Given the description of an element on the screen output the (x, y) to click on. 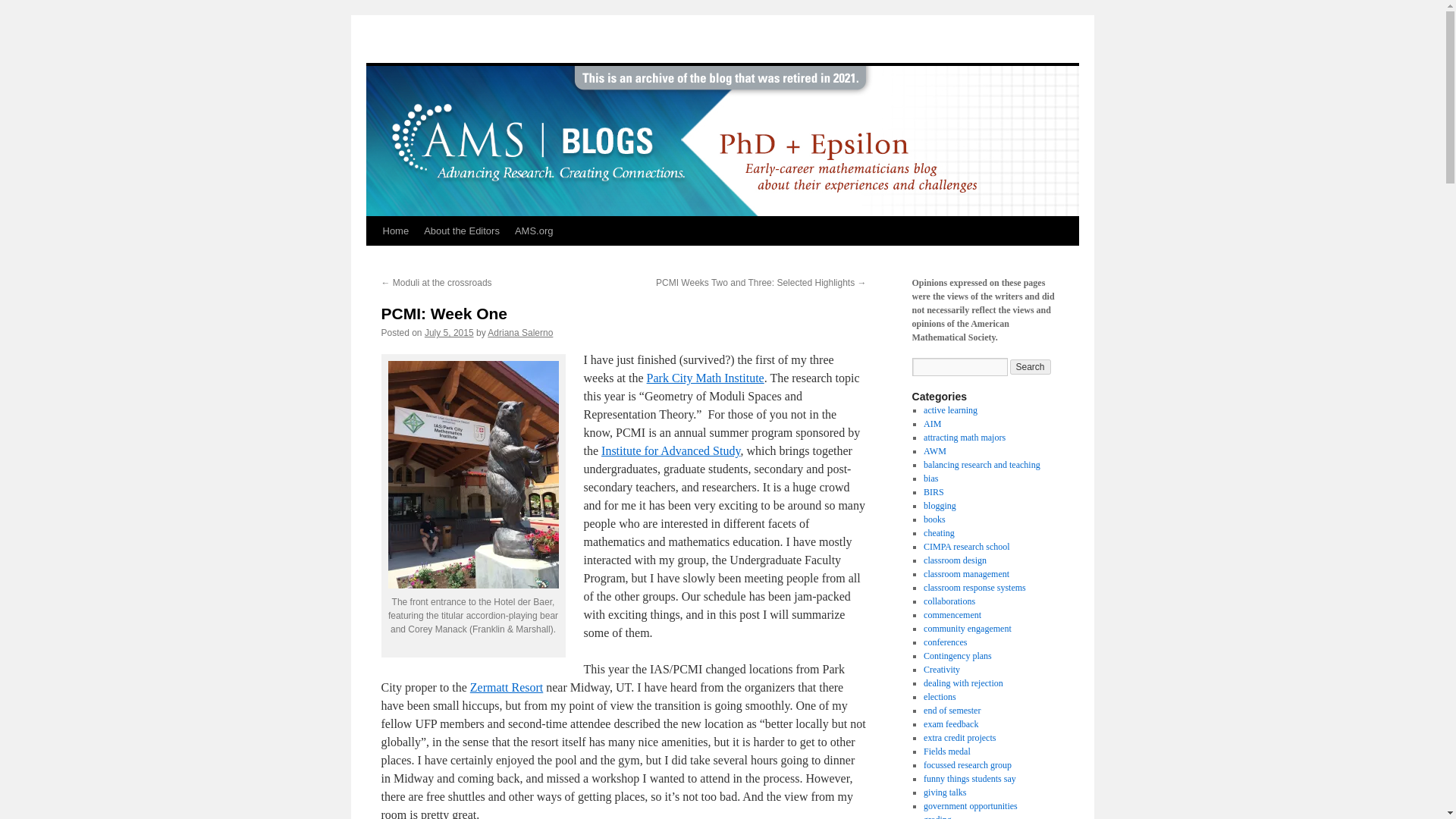
5:16 pm (449, 332)
Home (395, 231)
Adriana Salerno (520, 332)
View all posts by Adriana Salerno (520, 332)
Institute for Advanced Study (670, 450)
Park City Math Institute (705, 377)
Zermatt Resort (506, 686)
AMS.org (533, 231)
About the Editors (461, 231)
July 5, 2015 (449, 332)
